Given the description of an element on the screen output the (x, y) to click on. 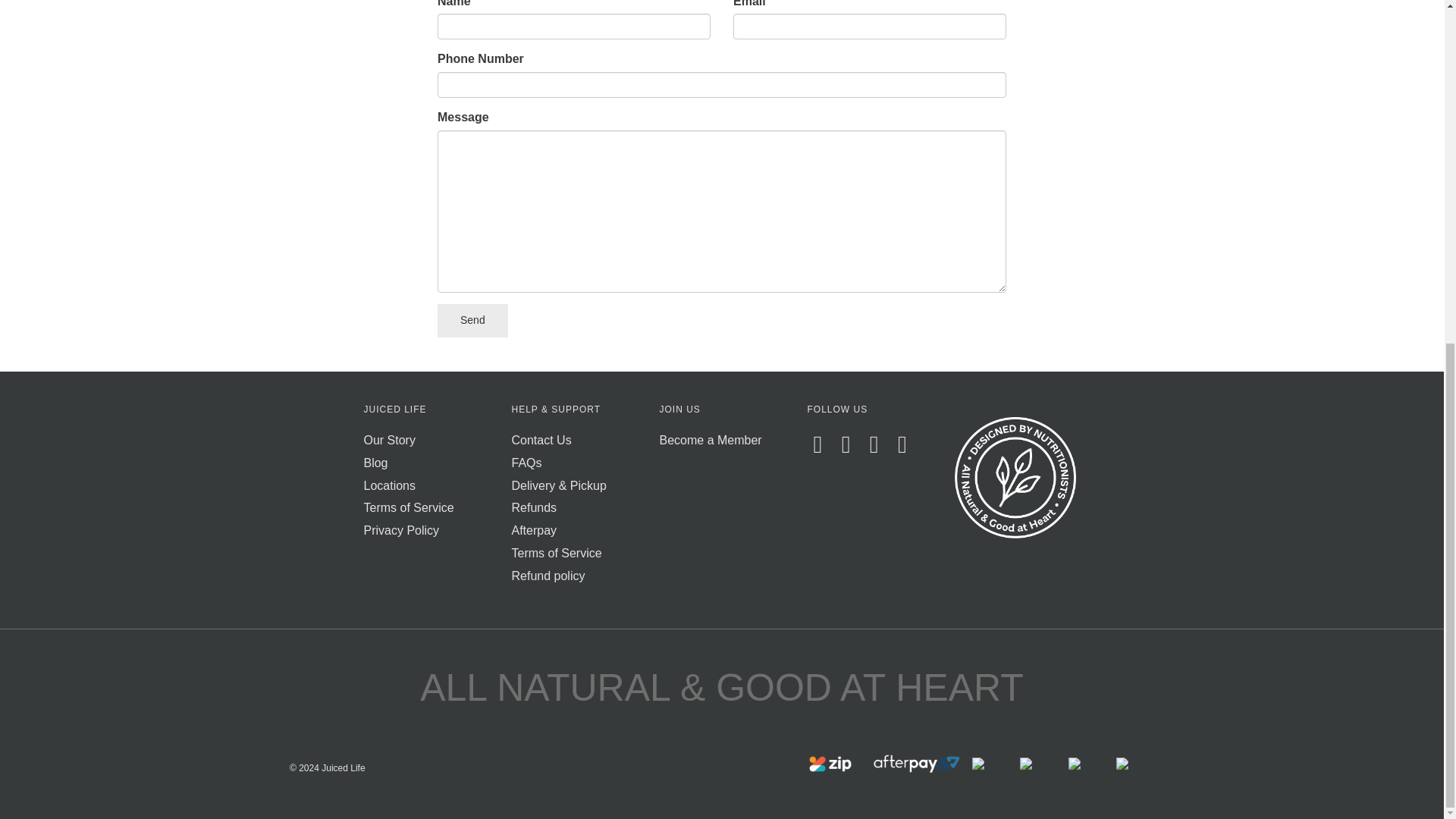
Send (473, 320)
